Given the description of an element on the screen output the (x, y) to click on. 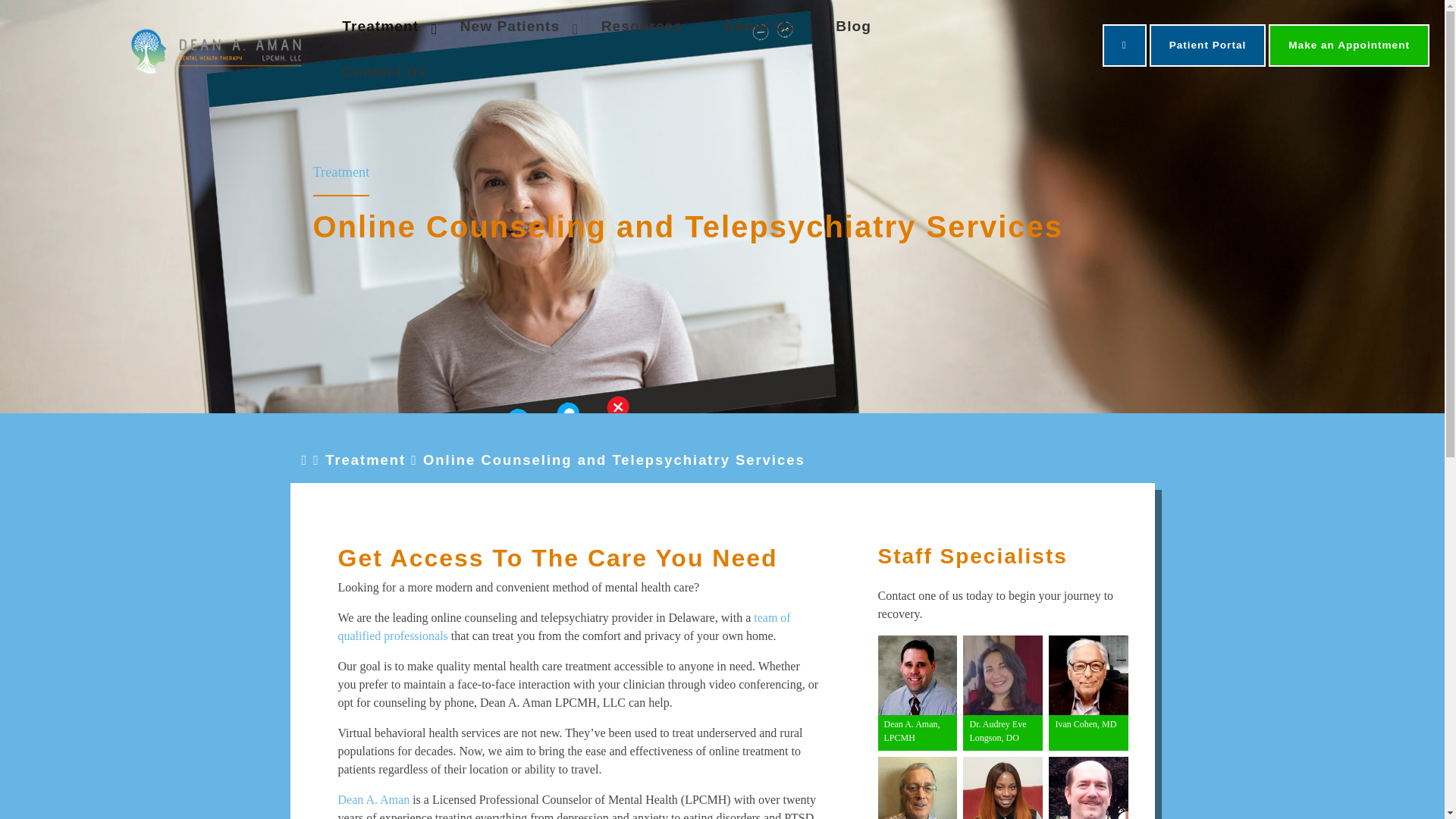
Contact Us (383, 72)
Resources (643, 26)
Make an Appointment (1348, 45)
Patient Portal (1208, 45)
New Patients (511, 26)
Dean A. Aman (373, 799)
Blog (853, 26)
Treatment (382, 26)
About Us (759, 26)
Treatment (341, 171)
Treatment (341, 171)
team of qualified professionals (563, 626)
Treatment (365, 459)
